Given the description of an element on the screen output the (x, y) to click on. 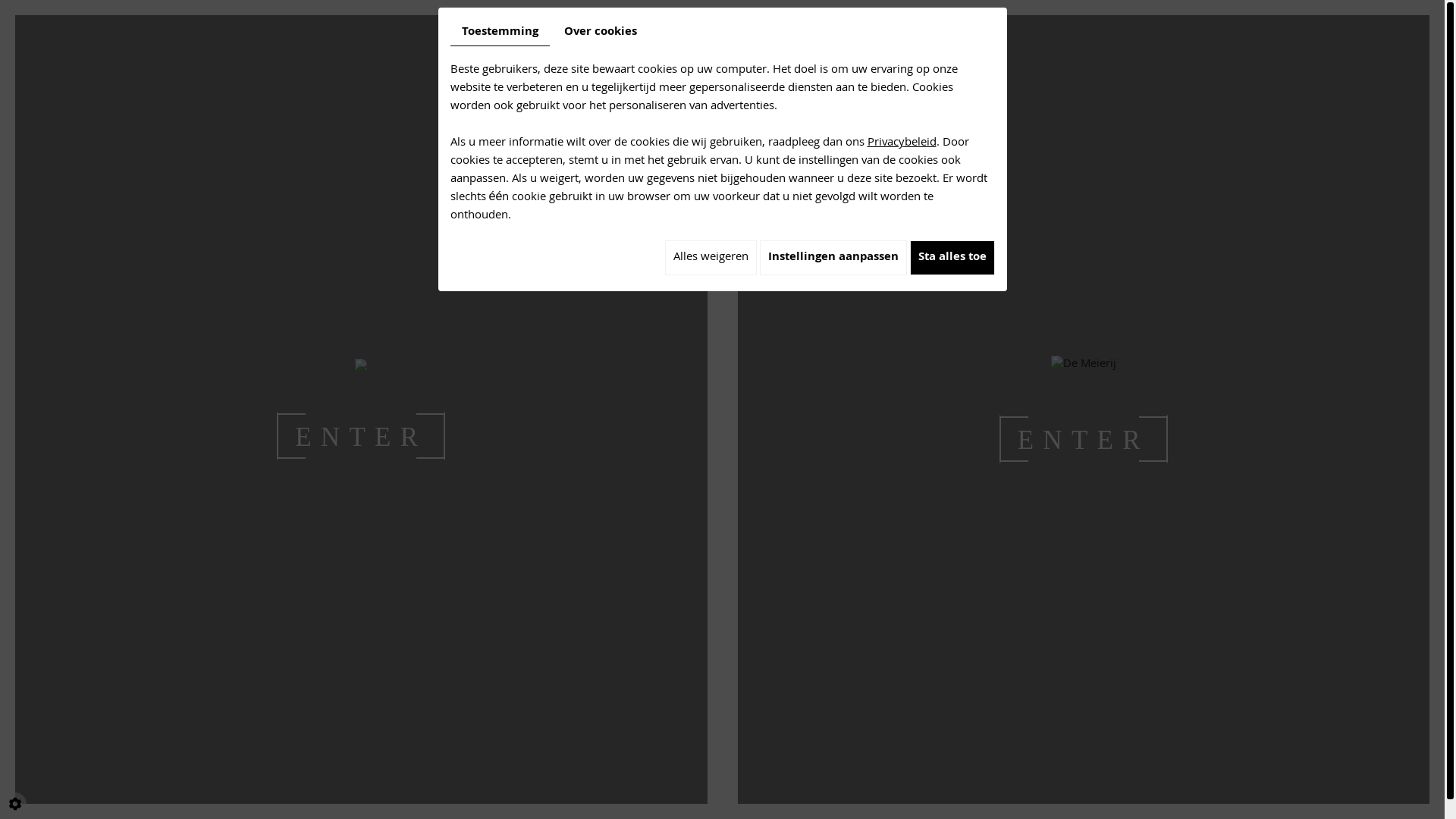
ENTER Element type: text (360, 435)
ENTER Element type: text (1083, 438)
Alles weigeren Element type: text (710, 257)
Over cookies Element type: text (599, 32)
Privacybeleid Element type: text (901, 143)
Cookie-instelling bewerken Element type: text (14, 803)
Instellingen aanpassen Element type: text (832, 257)
Toestemming Element type: text (499, 32)
Sta alles toe Element type: text (952, 257)
